Given the description of an element on the screen output the (x, y) to click on. 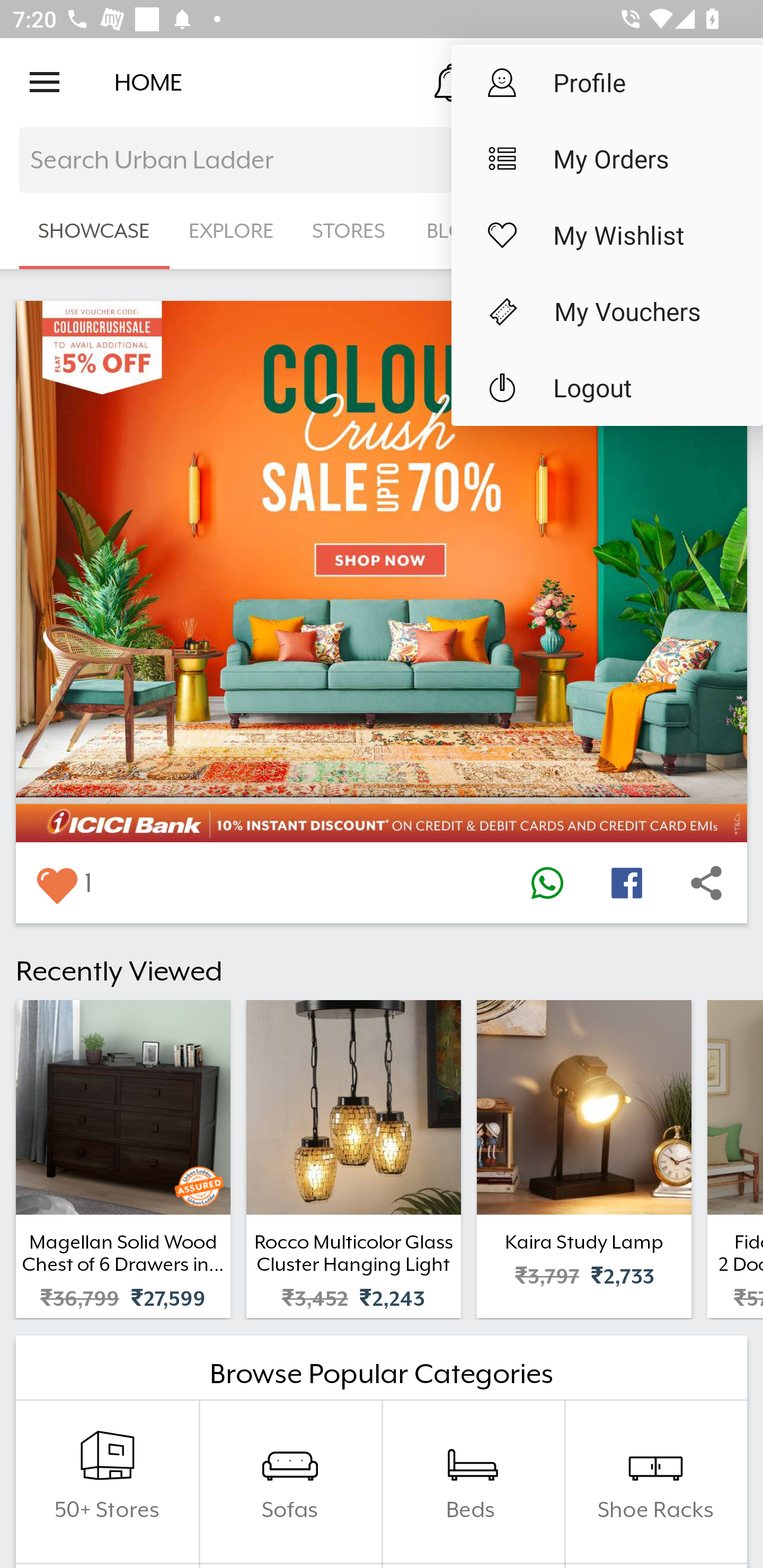
Profile (607, 81)
My Orders (607, 158)
My Wishlist (607, 234)
My Vouchers (607, 310)
Logout (607, 387)
